Given the description of an element on the screen output the (x, y) to click on. 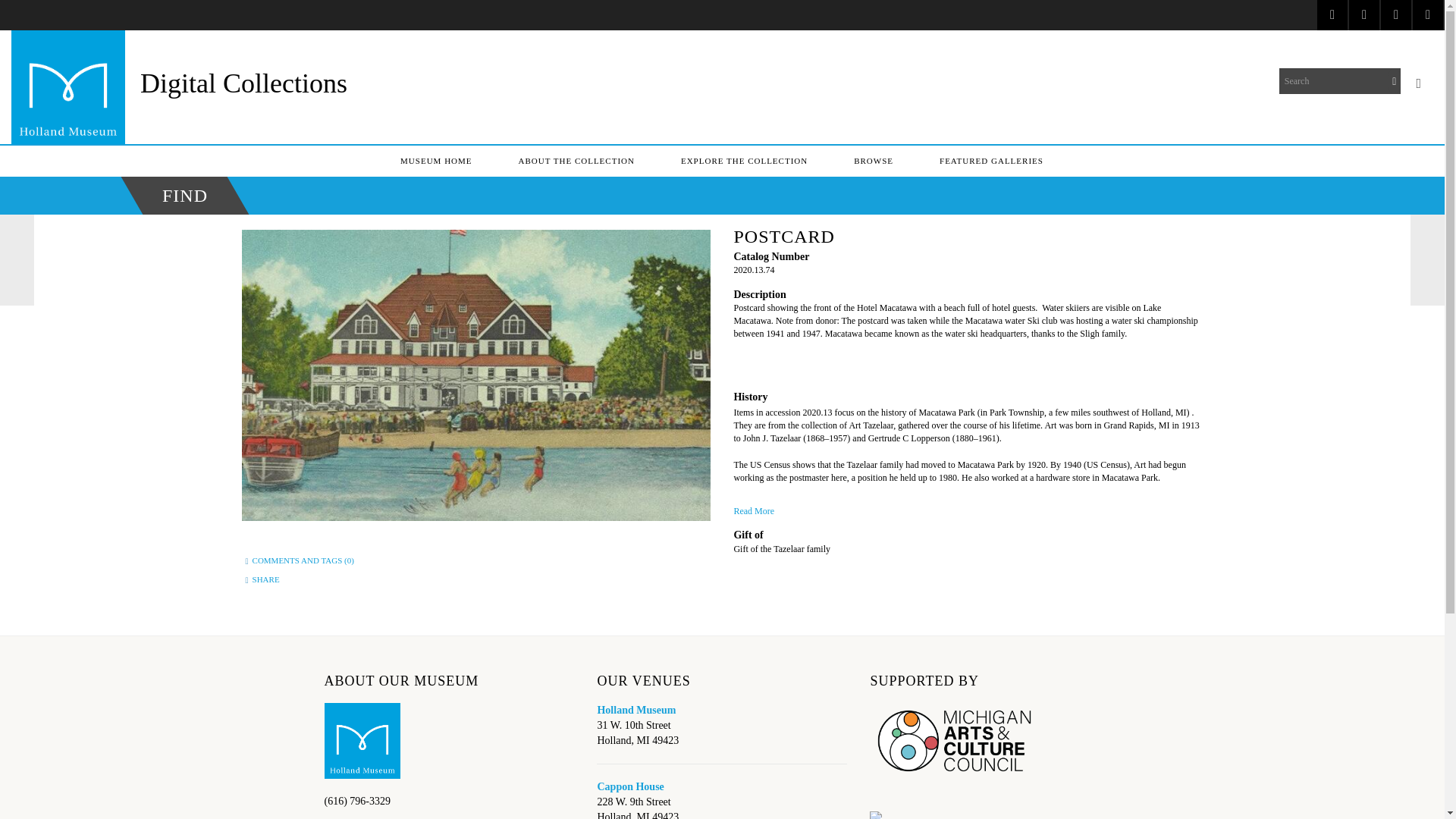
EXPLORE THE COLLECTION (743, 160)
Cappon House (629, 786)
BROWSE (873, 160)
FEATURED GALLERIES (991, 160)
Holland Museum (635, 709)
Read More (967, 507)
SHARE (265, 578)
ABOUT THE COLLECTION (577, 160)
Digital Collections (243, 82)
MUSEUM HOME (436, 160)
